Given the description of an element on the screen output the (x, y) to click on. 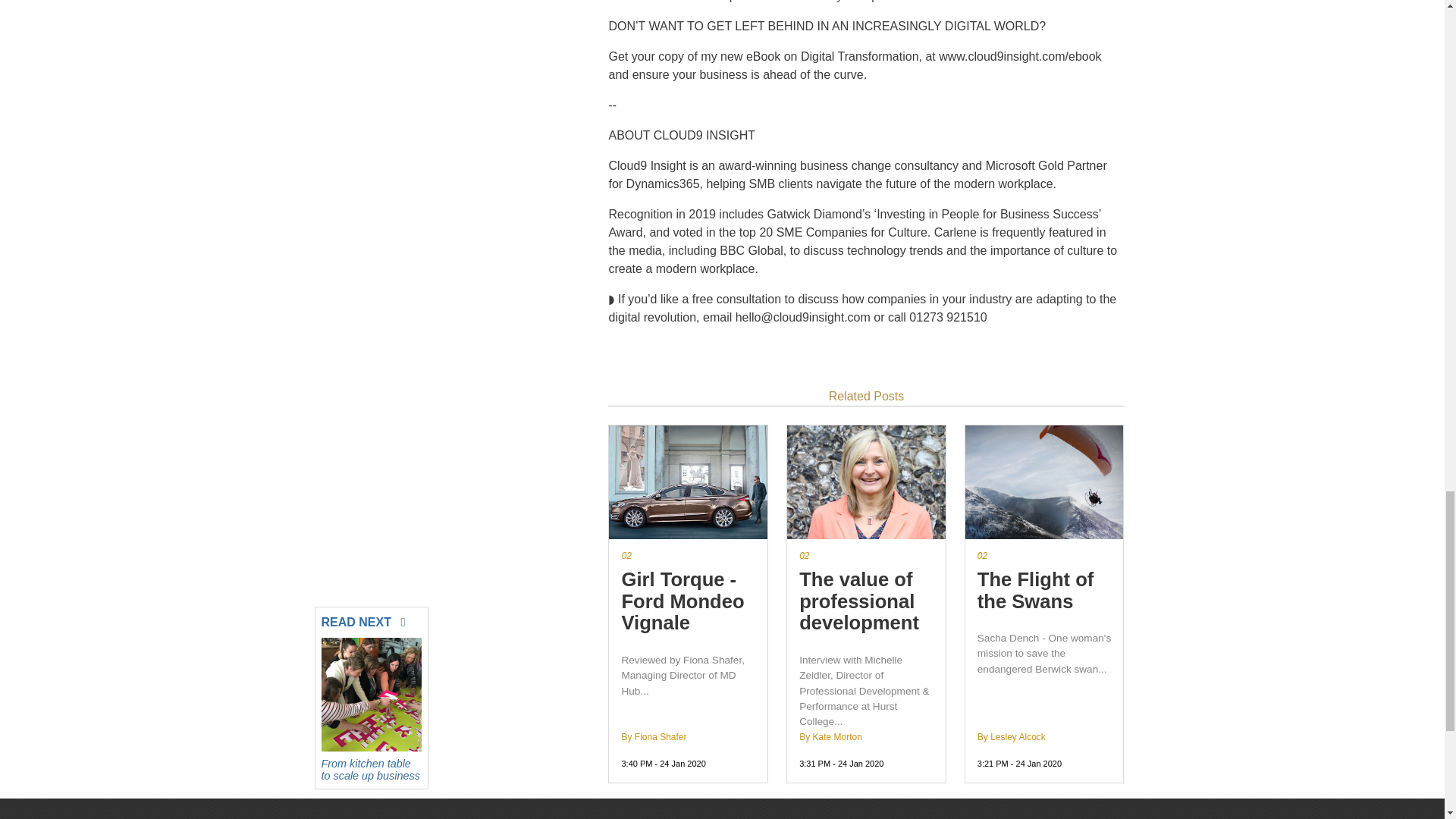
The value of professional development (866, 600)
02 (688, 555)
The Flight of the Swans (1044, 590)
By Kate Morton (830, 737)
02 (1044, 555)
By Fiona Shafer (653, 737)
READ NEXT (371, 619)
02 (866, 555)
Girl Torque - Ford Mondeo Vignale (688, 600)
From kitchen table to scale up business (371, 766)
